Given the description of an element on the screen output the (x, y) to click on. 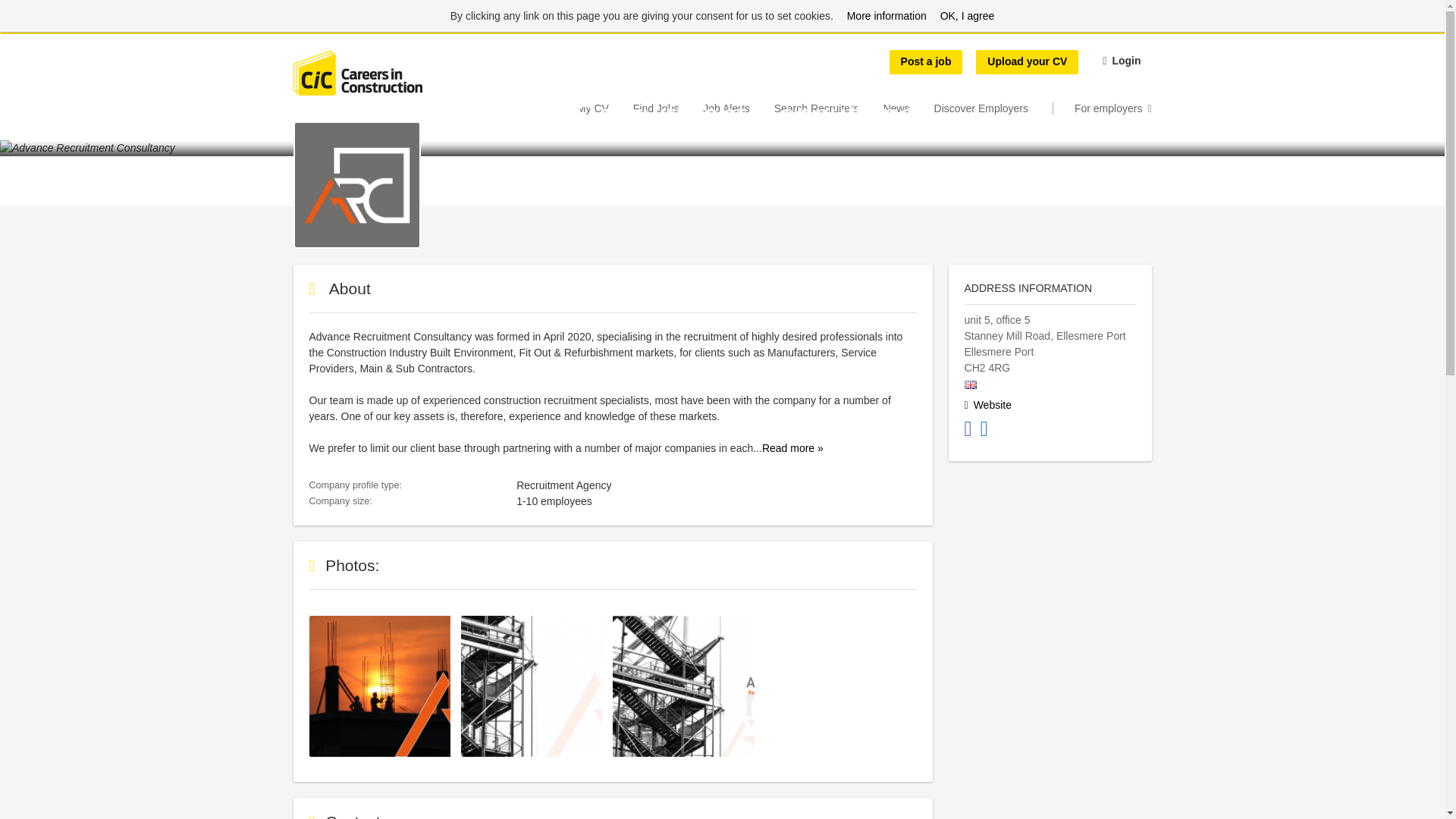
Find Jobs (656, 75)
Post a job (925, 30)
Job Alerts (726, 75)
Careers in Construction   (357, 40)
News (896, 75)
Advance Recruitment Consultancy  (356, 451)
Discover Employers (980, 75)
Website (987, 625)
Search Recruiters (816, 75)
Login (1121, 30)
